Given the description of an element on the screen output the (x, y) to click on. 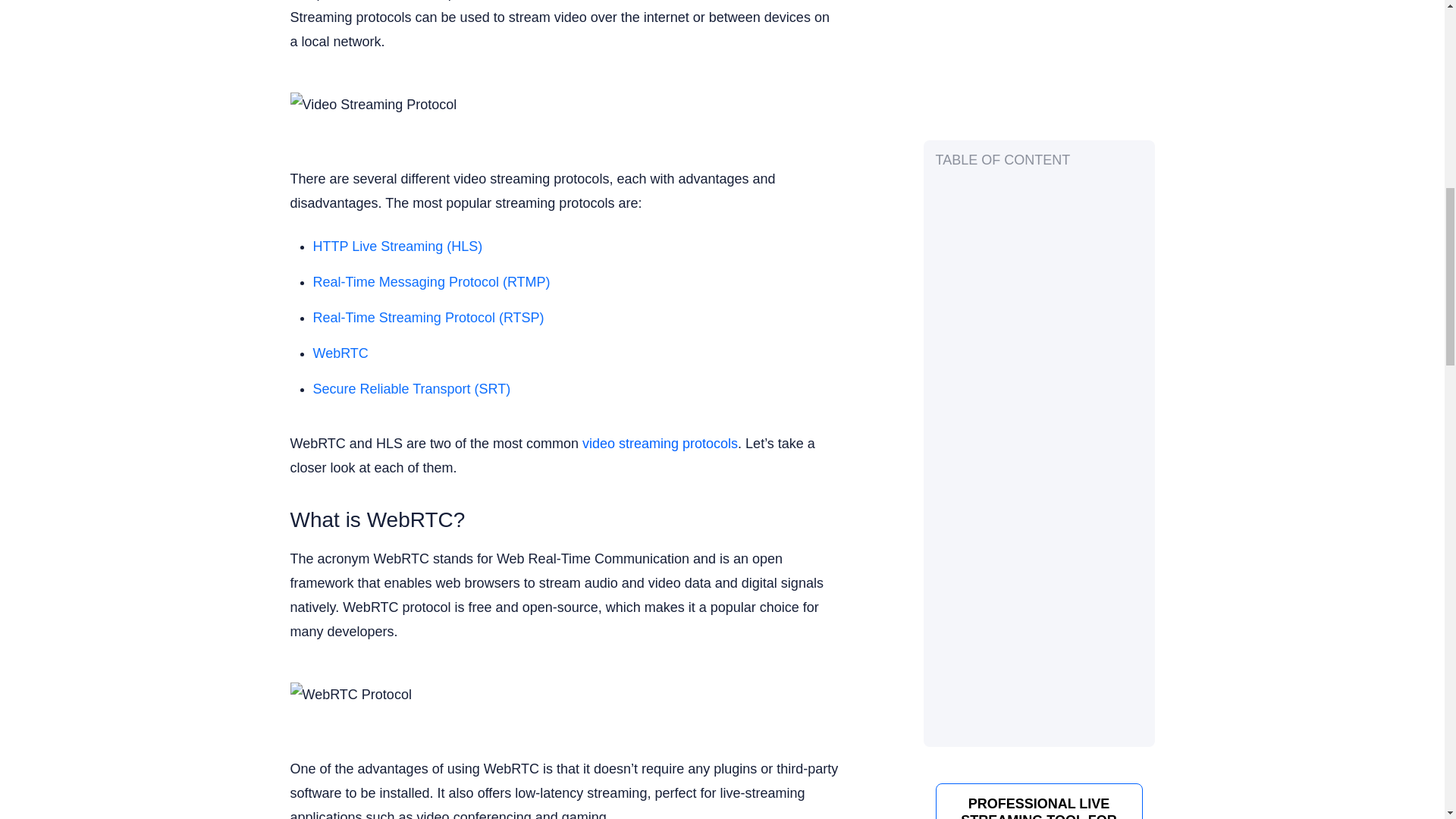
SIGN UP FOR A 7-DAY TRIAL (1038, 148)
video streaming protocols (660, 443)
WebRTC (340, 353)
